Given the description of an element on the screen output the (x, y) to click on. 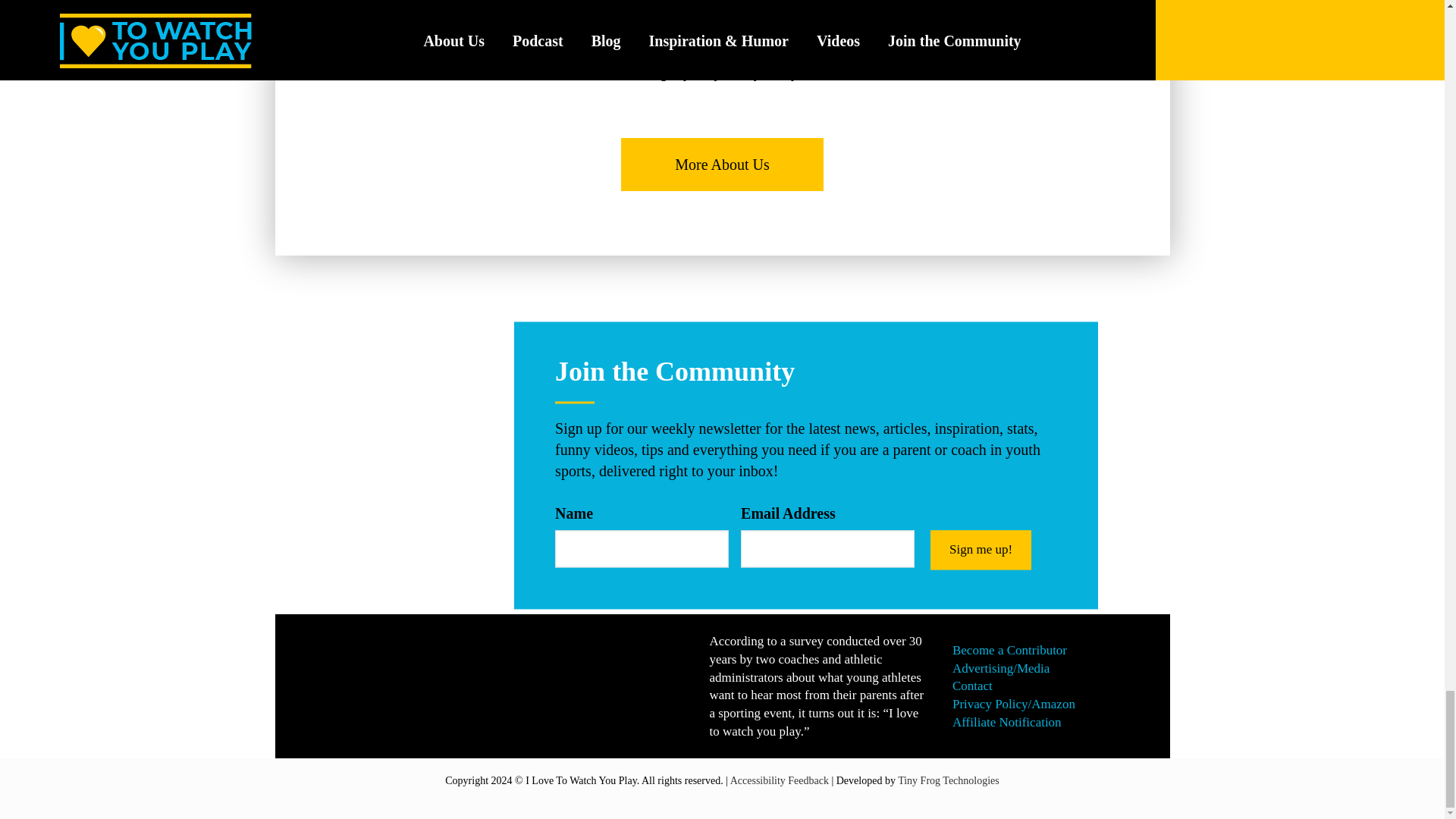
Sign me up! (980, 549)
